Given the description of an element on the screen output the (x, y) to click on. 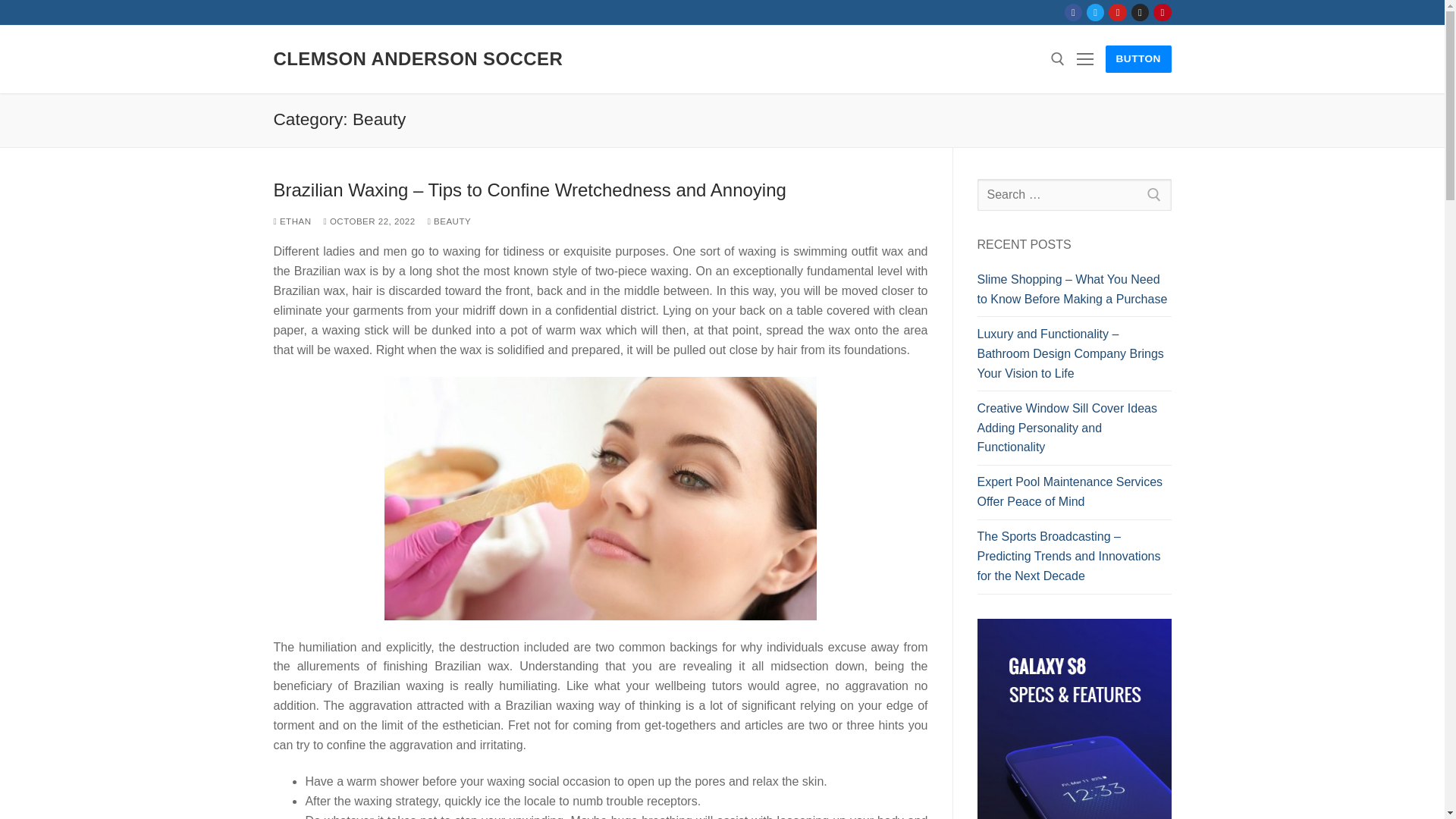
OCTOBER 22, 2022 (368, 221)
Youtube (1117, 12)
ETHAN (292, 221)
BUTTON (1138, 59)
BEAUTY (449, 221)
Expert Pool Maintenance Services Offer Peace of Mind (1073, 495)
Facebook (1073, 12)
Instagram (1139, 12)
CLEMSON ANDERSON SOCCER (417, 58)
Twitter (1095, 12)
Pinterest (1162, 12)
Search for: (1073, 194)
